Given the description of an element on the screen output the (x, y) to click on. 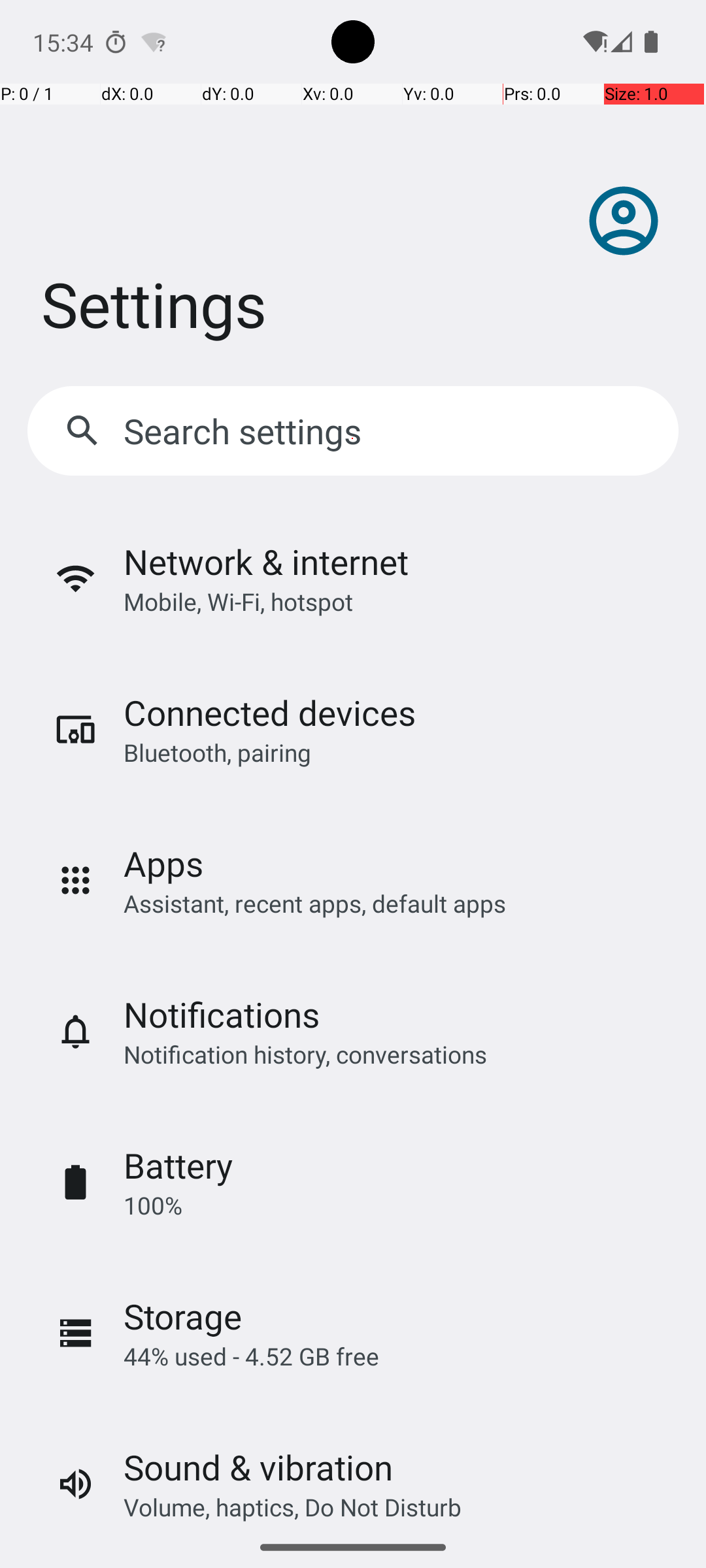
44% used - 4.52 GB free Element type: android.widget.TextView (251, 1355)
